Given the description of an element on the screen output the (x, y) to click on. 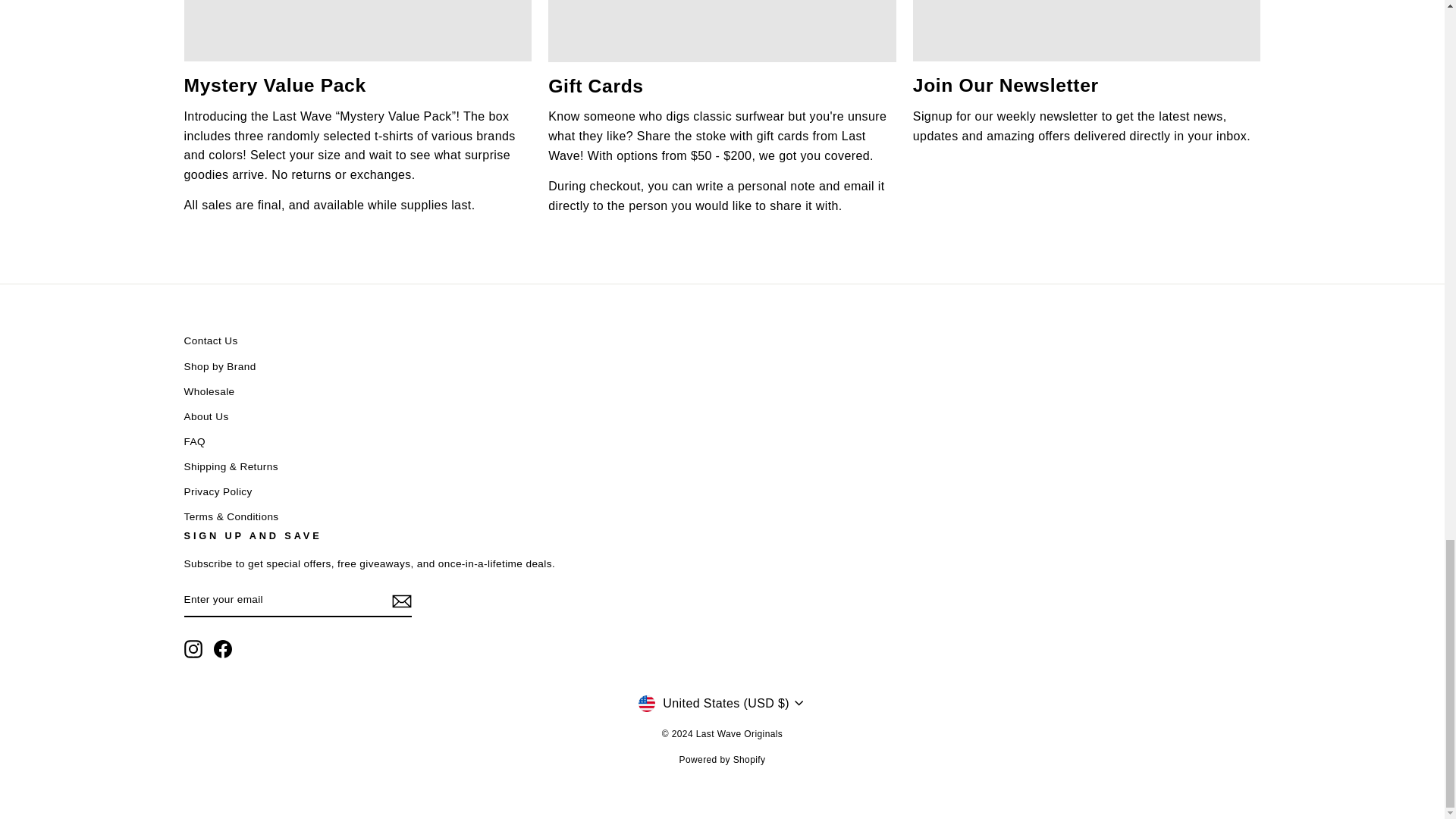
Last Wave Originals on Facebook (222, 648)
icon-email (400, 601)
Last Wave Originals on Instagram (192, 648)
instagram (192, 648)
